Given the description of an element on the screen output the (x, y) to click on. 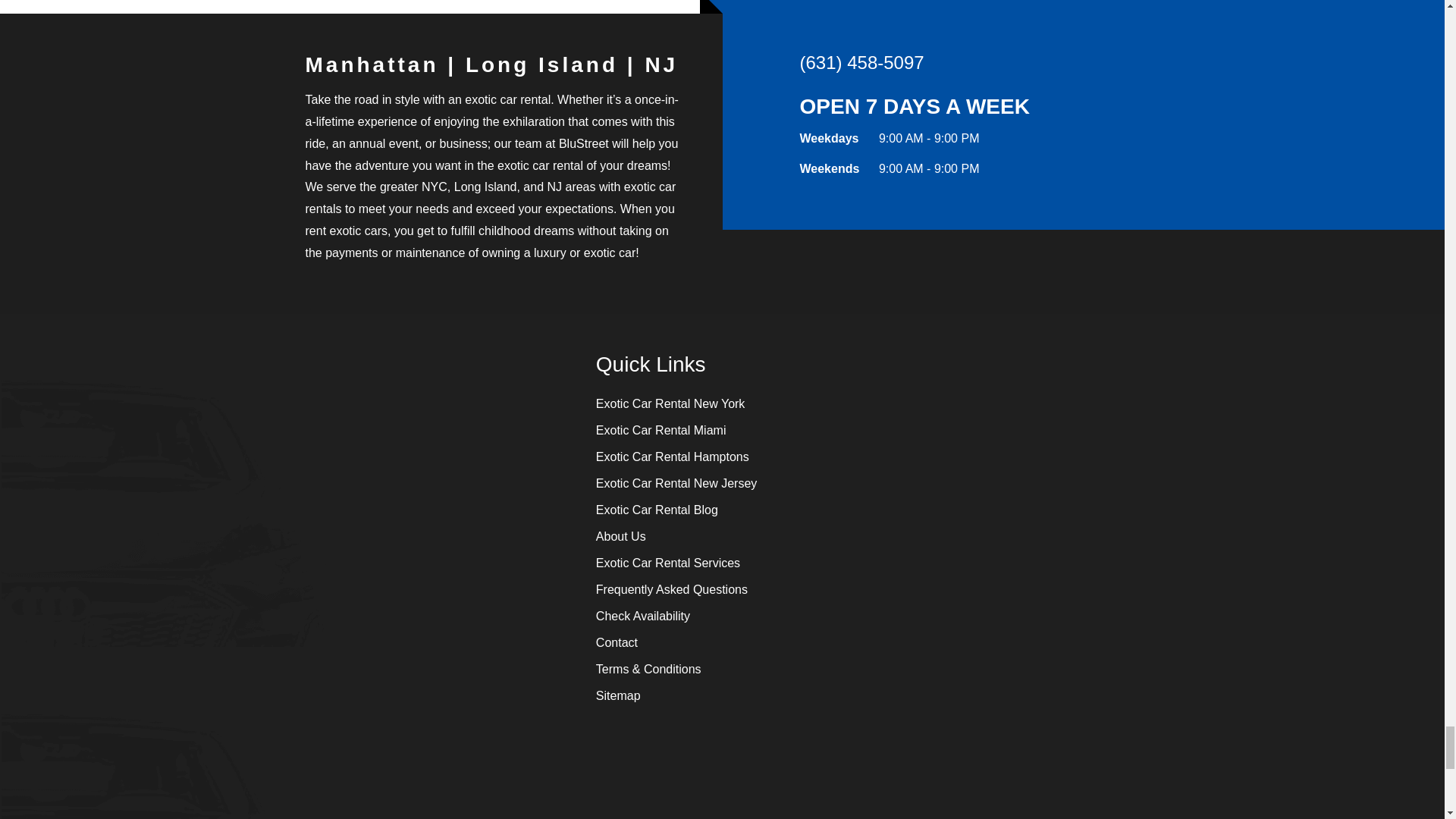
Exotic Car Rental New York (670, 403)
Exotic Car Rental Hamptons (672, 456)
Exotic Car Rental Blog (656, 509)
Exotic Car Rental Miami (660, 430)
Exotic Car Rental New Jersey (676, 482)
